Given the description of an element on the screen output the (x, y) to click on. 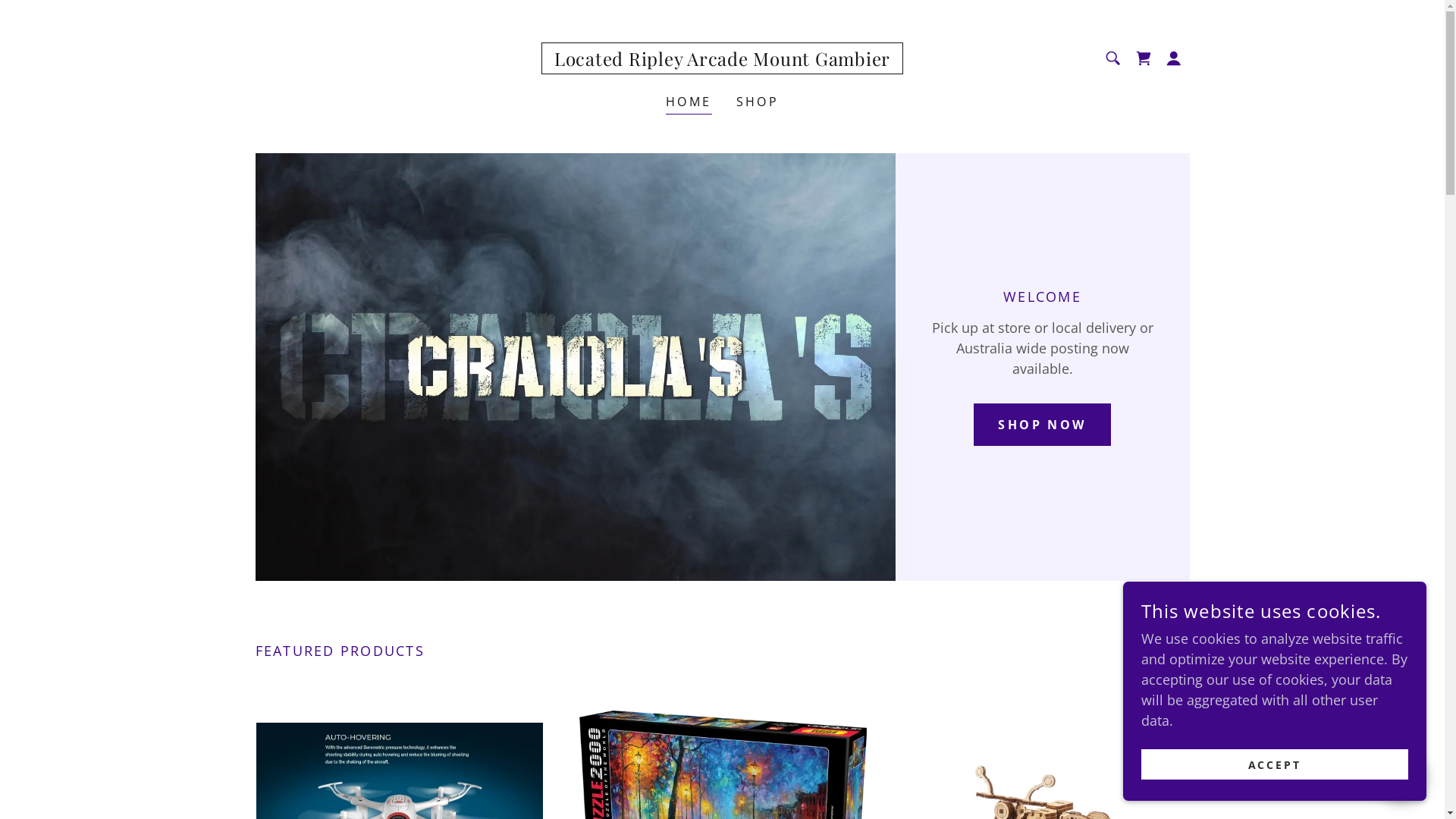
SHOP Element type: text (757, 101)
ACCEPT Element type: text (1274, 764)
Located Ripley Arcade Mount Gambier Element type: text (722, 60)
SHOP NOW Element type: text (1041, 424)
HOME Element type: text (688, 103)
